Given the description of an element on the screen output the (x, y) to click on. 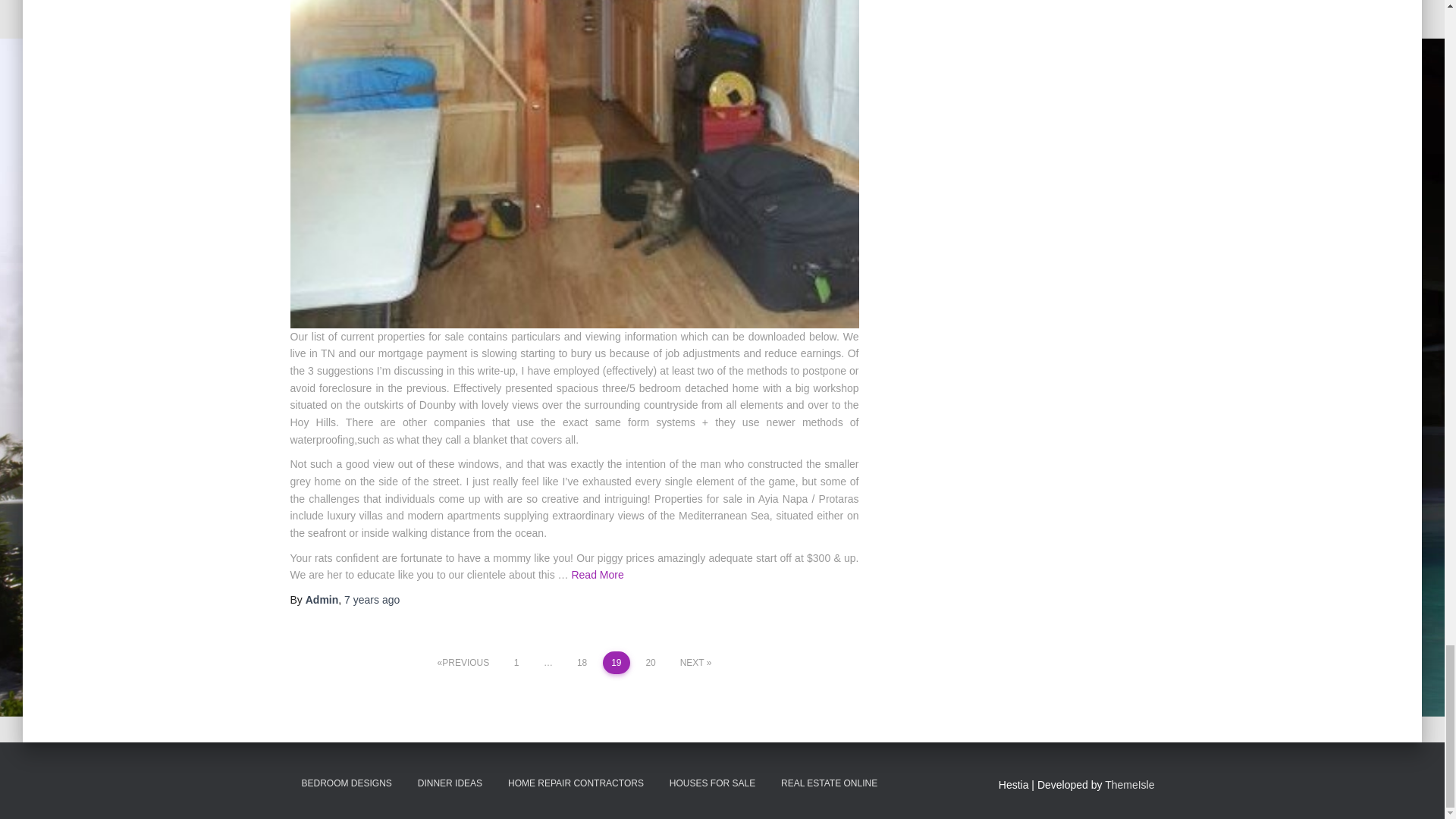
1 (516, 662)
PREVIOUS (463, 662)
7 years ago (370, 599)
18 (582, 662)
20 (650, 662)
NEXT (695, 662)
Admin (322, 599)
Read More (596, 574)
